Given the description of an element on the screen output the (x, y) to click on. 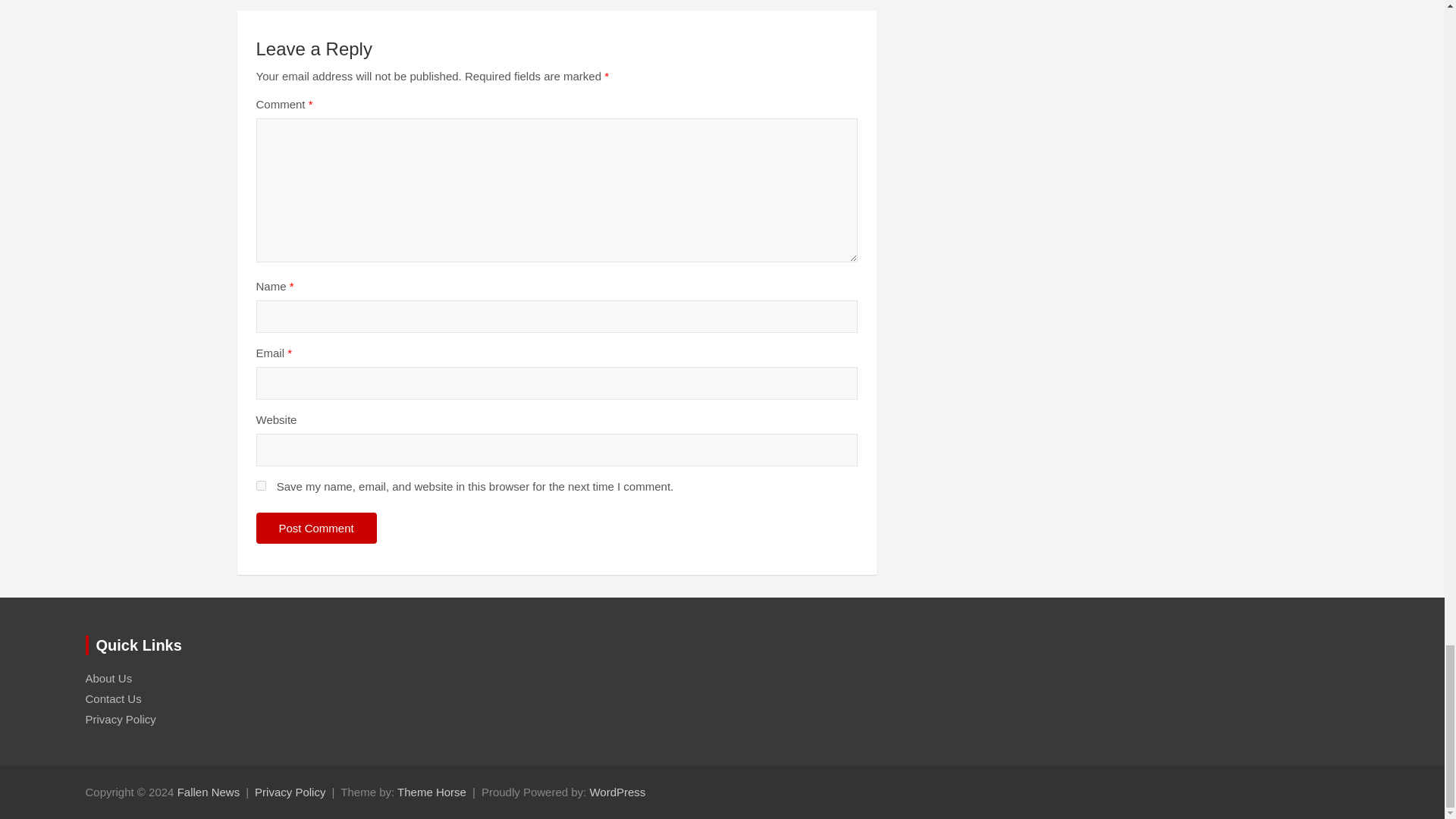
Theme Horse (431, 791)
Post Comment (316, 527)
yes (261, 485)
WordPress (617, 791)
Post Comment (316, 527)
Fallen News (208, 791)
